Given the description of an element on the screen output the (x, y) to click on. 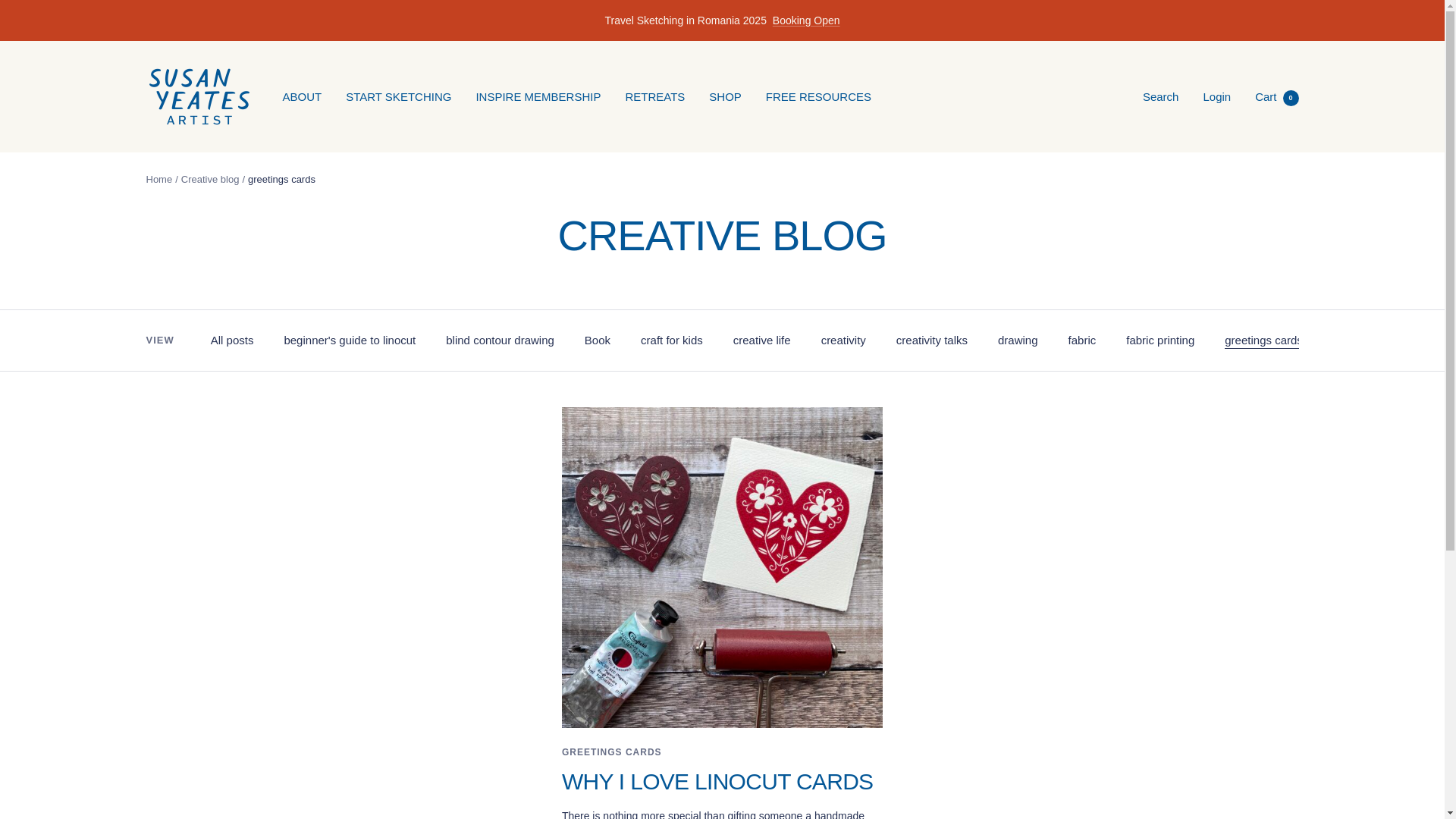
beginner's guide to linocut (348, 340)
blind contour drawing (499, 340)
Show articles tagged creative life (761, 340)
Widen search to articles that aren't tagged greetings cards (1263, 340)
RETREATS (654, 96)
Show articles tagged Book (597, 340)
Login (1216, 95)
Show articles tagged beginner's guide to linocut (348, 340)
Show articles tagged inspire (1350, 340)
fabric (1082, 340)
